Given the description of an element on the screen output the (x, y) to click on. 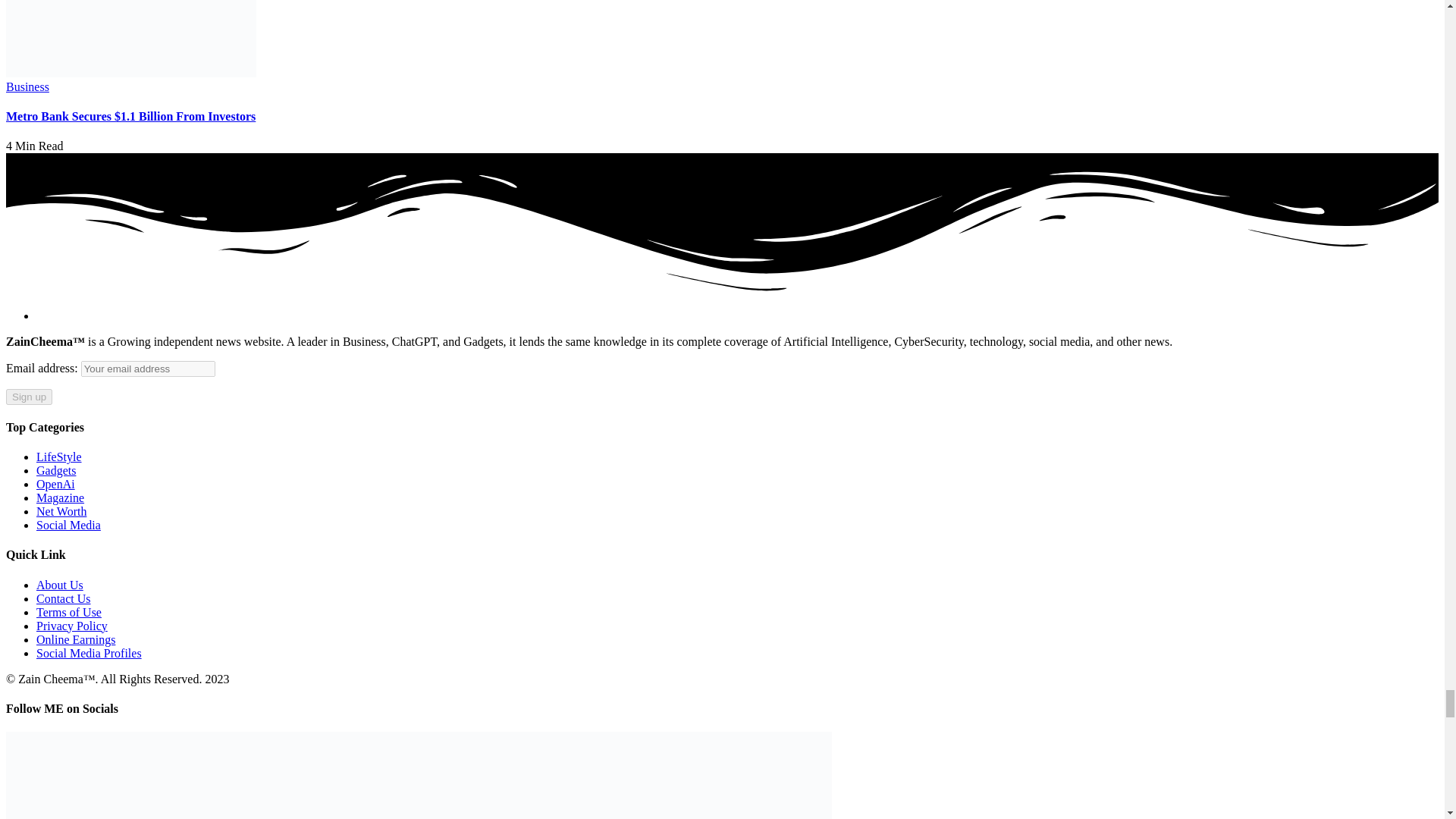
Sign up (28, 396)
